Given the description of an element on the screen output the (x, y) to click on. 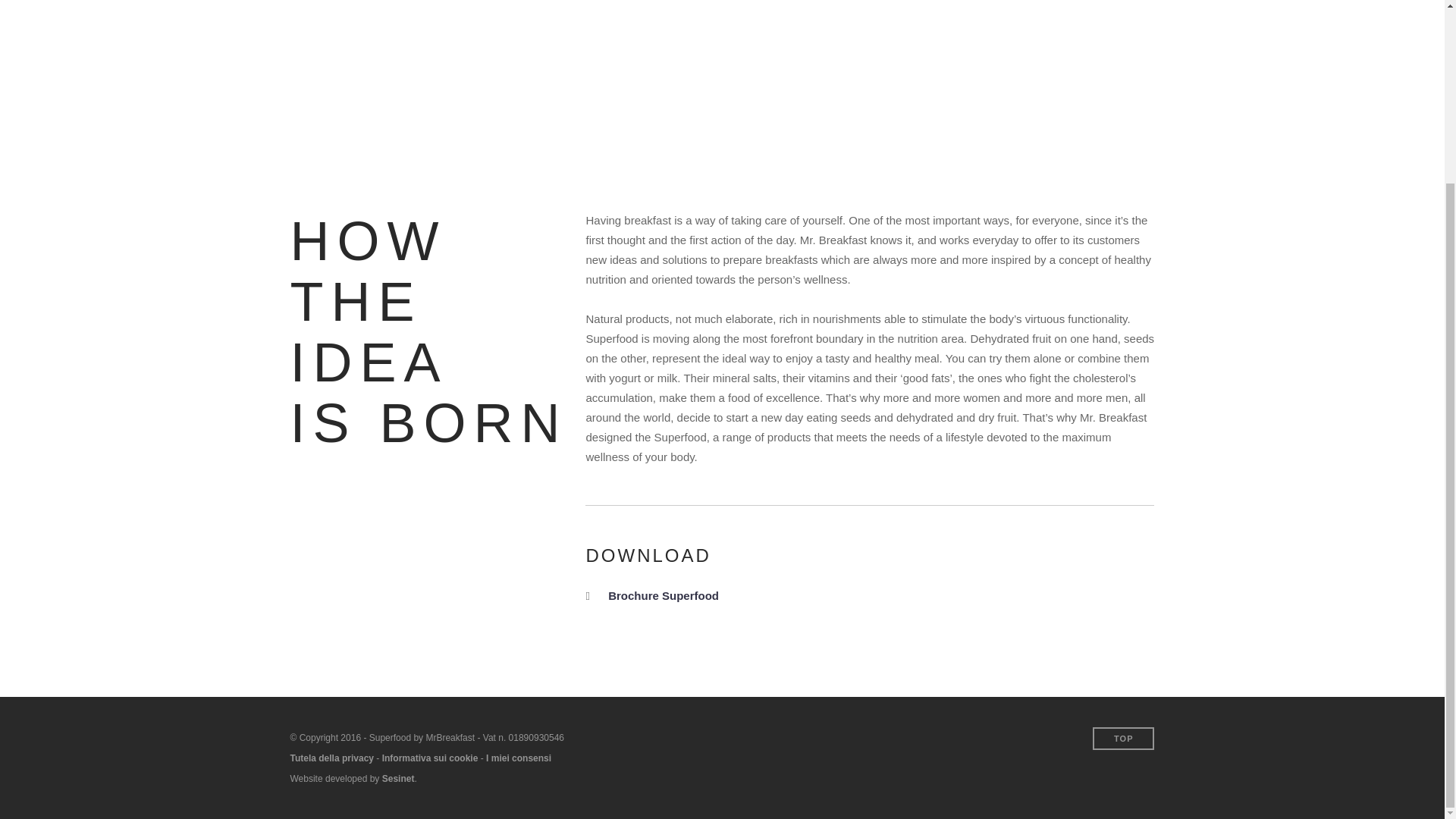
TOP (1123, 738)
Sesinet (397, 778)
Tutela della privacy (331, 757)
I miei consensi (518, 757)
Informativa sui cookie (430, 757)
Brochure Superfood (663, 594)
